Given the description of an element on the screen output the (x, y) to click on. 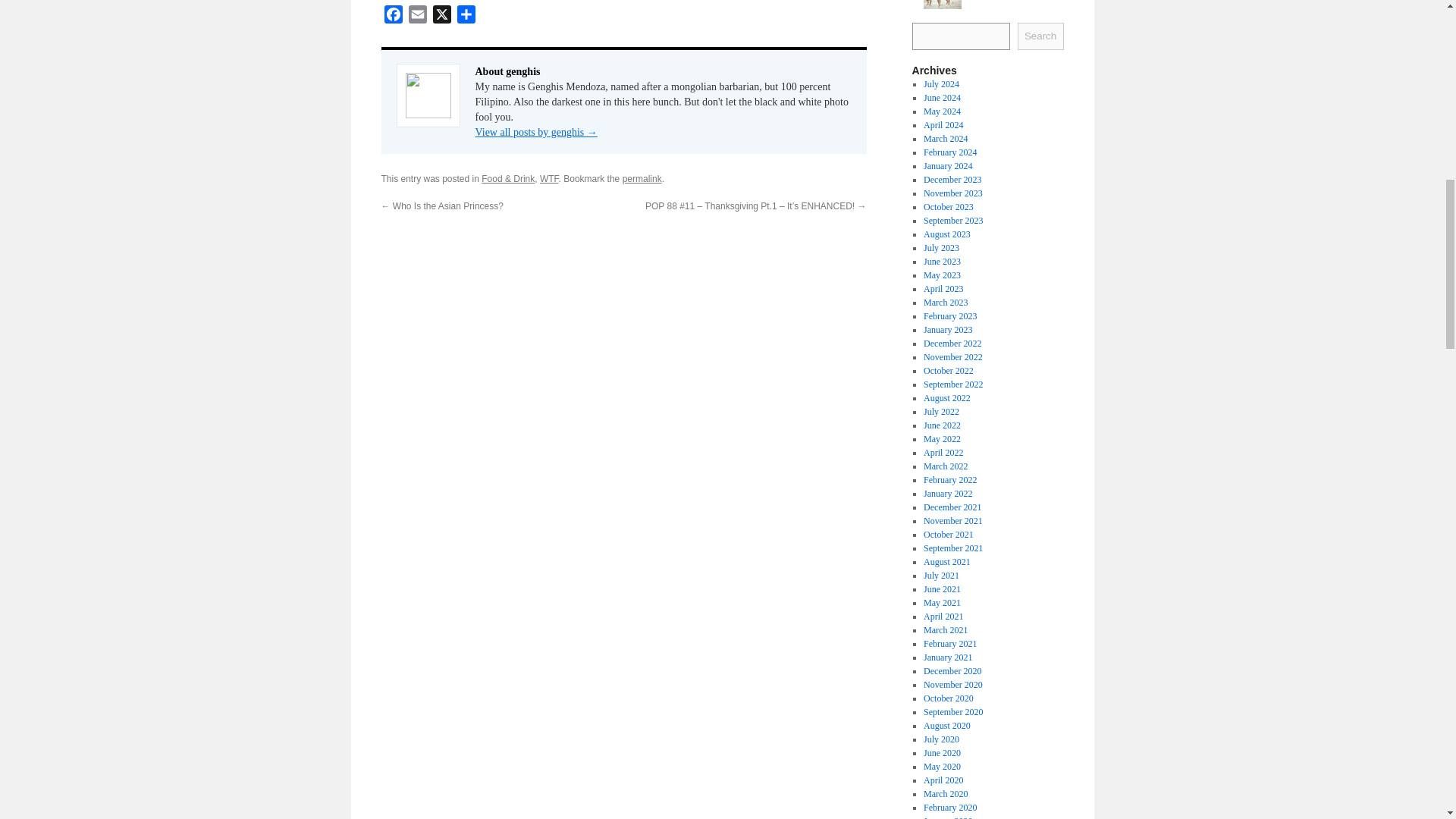
Permalink to She extracts vanilla from cow dung (642, 178)
WTF (549, 178)
Share (464, 16)
permalink (642, 178)
Email (416, 16)
X (440, 16)
X (440, 16)
Facebook (392, 16)
Facebook (392, 16)
Email (416, 16)
